Given the description of an element on the screen output the (x, y) to click on. 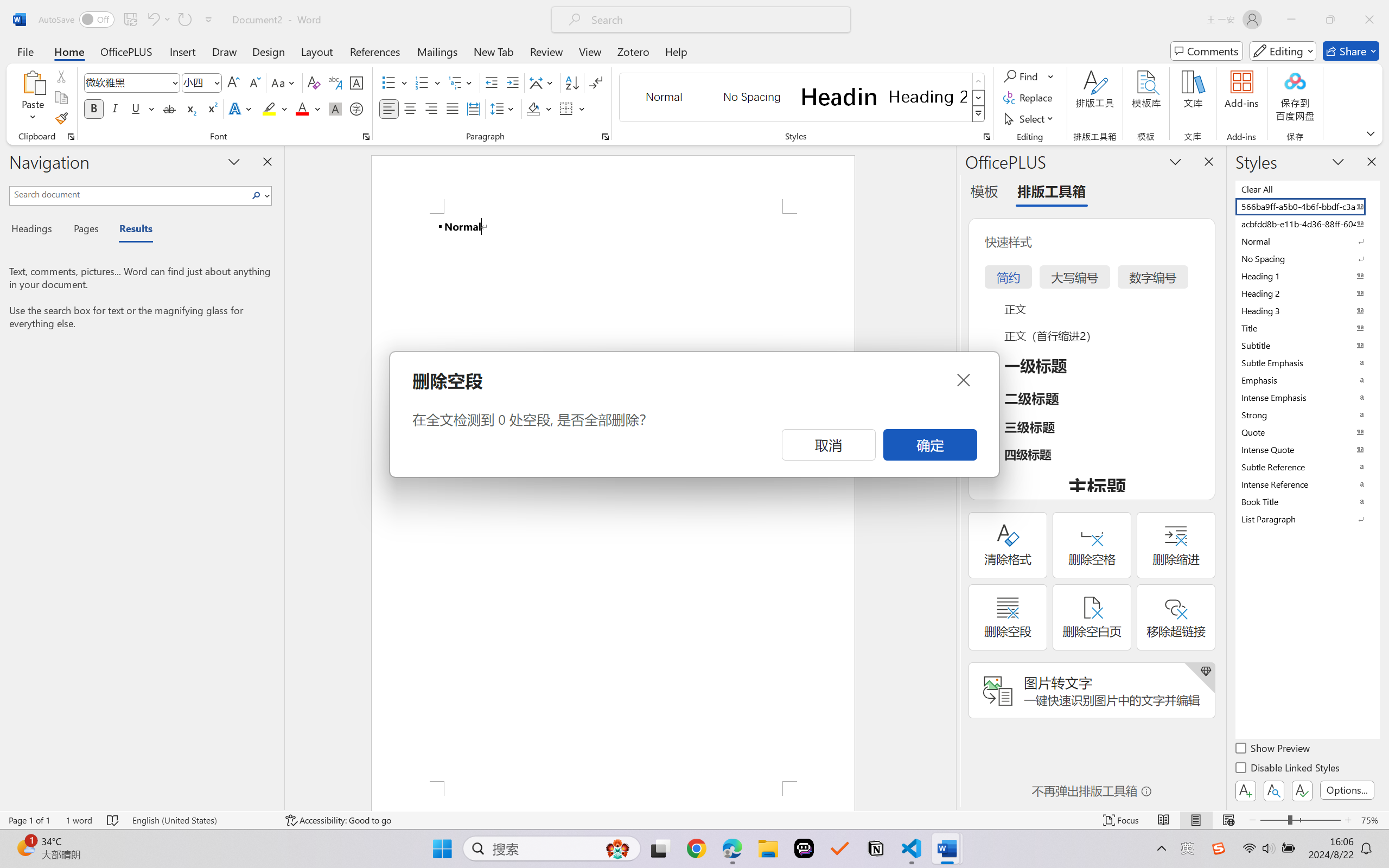
Paste (33, 97)
Center (409, 108)
Normal (1306, 240)
Read Mode (1163, 819)
Class: NetUIButton (1301, 790)
Zotero (632, 51)
Font Color (308, 108)
Font Color Red (302, 108)
Intense Quote (1306, 449)
Clear All (1306, 188)
